Given the description of an element on the screen output the (x, y) to click on. 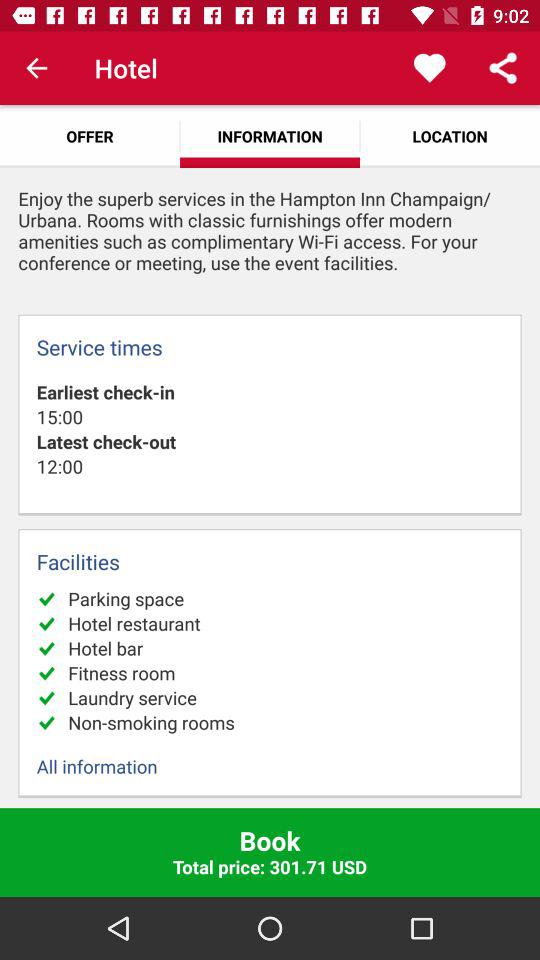
scroll until location icon (450, 136)
